Given the description of an element on the screen output the (x, y) to click on. 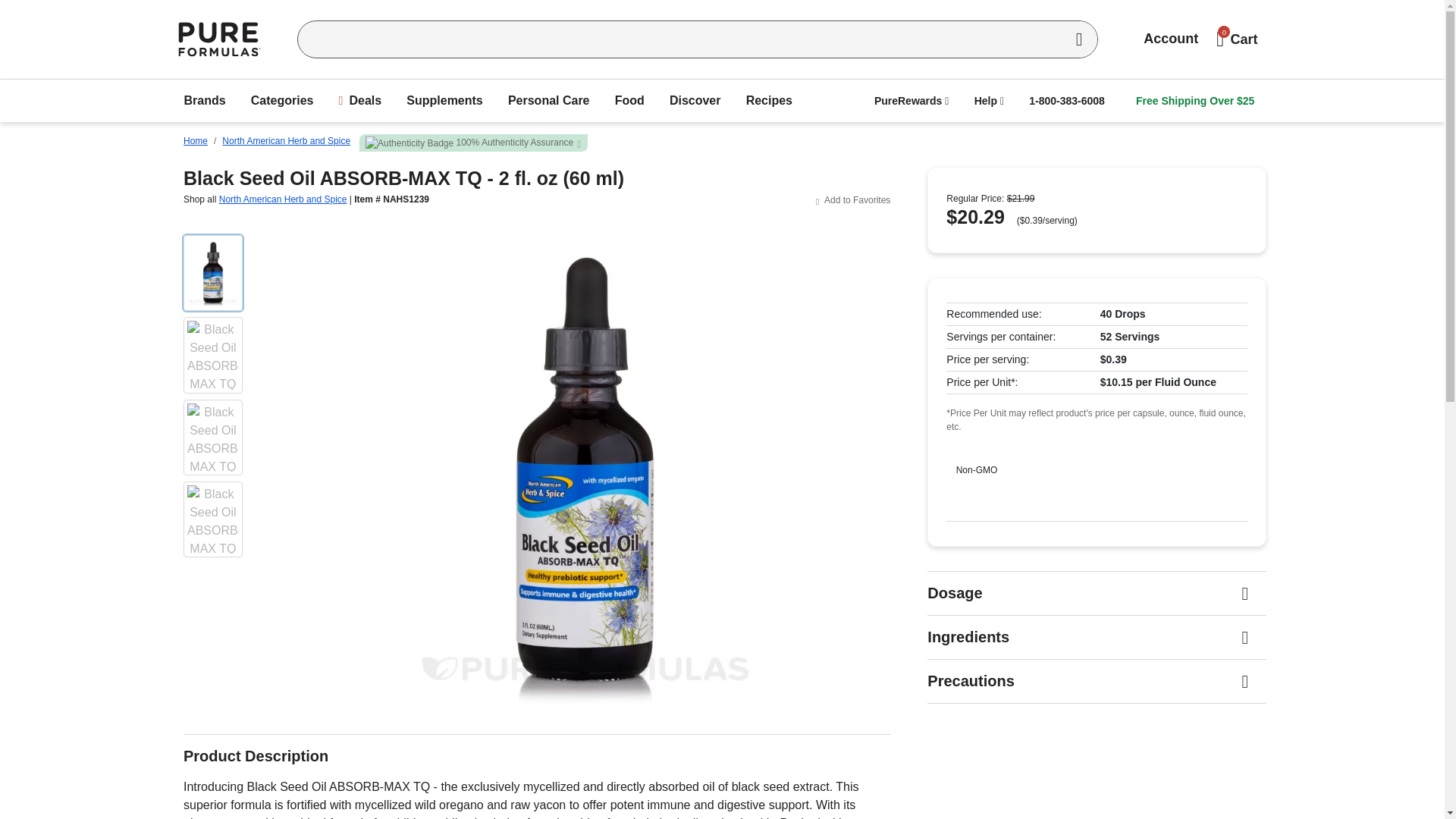
1-800-383-6008 (1066, 100)
Discover (694, 100)
Home (195, 140)
Personal Care (548, 100)
Deals (360, 100)
Food (629, 100)
Supplements (443, 100)
Categories (282, 100)
North American Herb and Spice (286, 140)
North American Herb and Spice (283, 199)
